Given the description of an element on the screen output the (x, y) to click on. 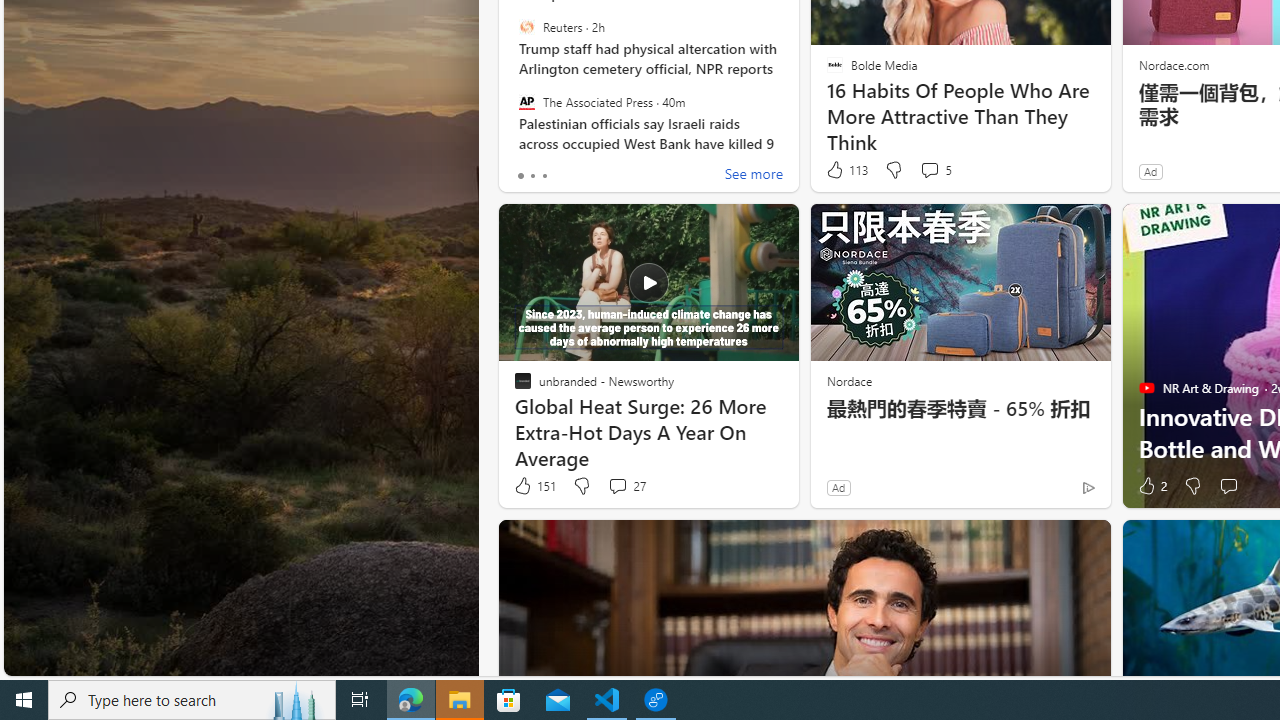
Nordace.com (1173, 64)
View comments 27 Comment (626, 485)
113 Like (845, 170)
tab-0 (520, 175)
View comments 5 Comment (929, 169)
2 Like (1151, 485)
151 Like (534, 485)
